Given the description of an element on the screen output the (x, y) to click on. 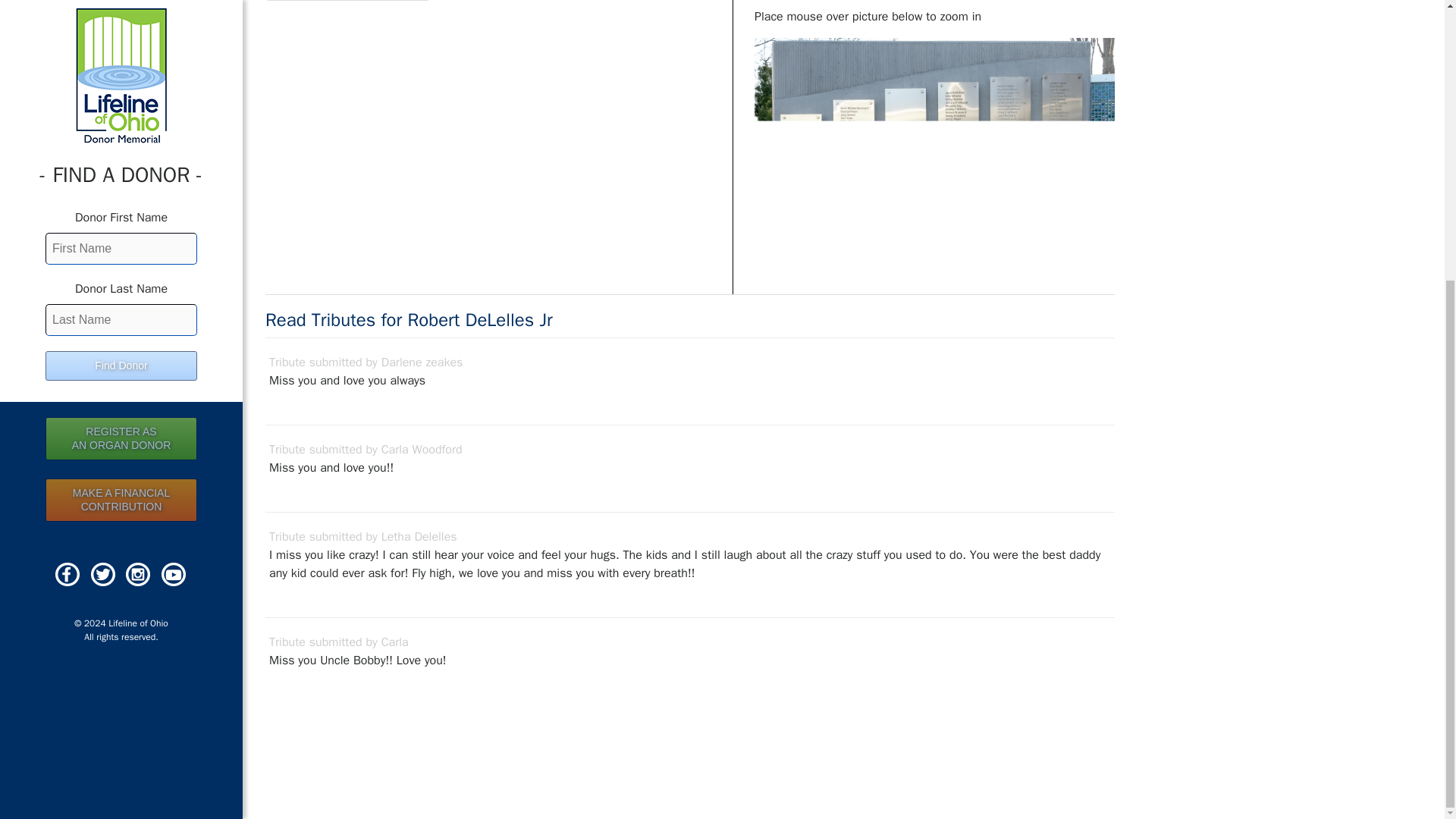
SUBMIT YOUR TRIBUTE (120, 20)
